Given the description of an element on the screen output the (x, y) to click on. 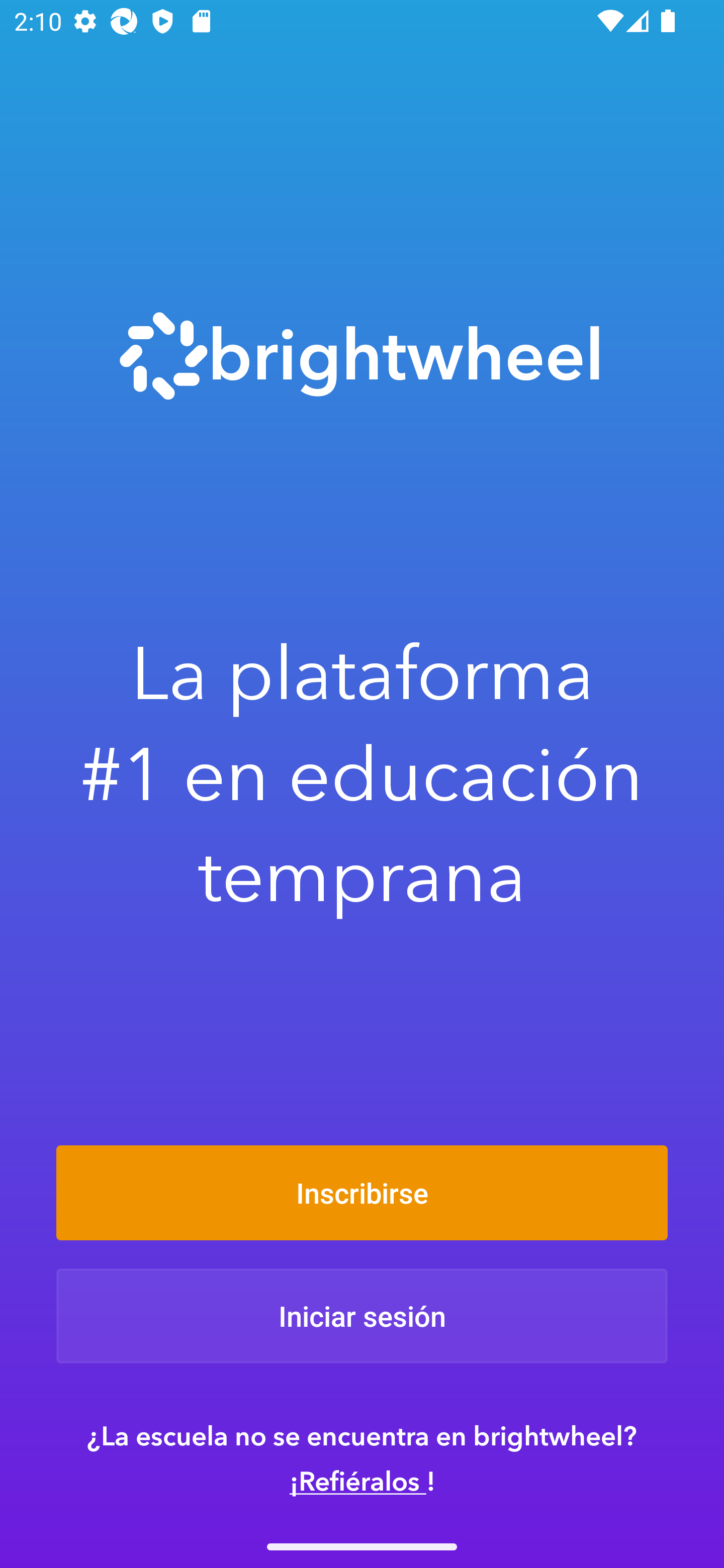
Inscribirse (361, 1192)
Iniciar sesión (361, 1316)
